Given the description of an element on the screen output the (x, y) to click on. 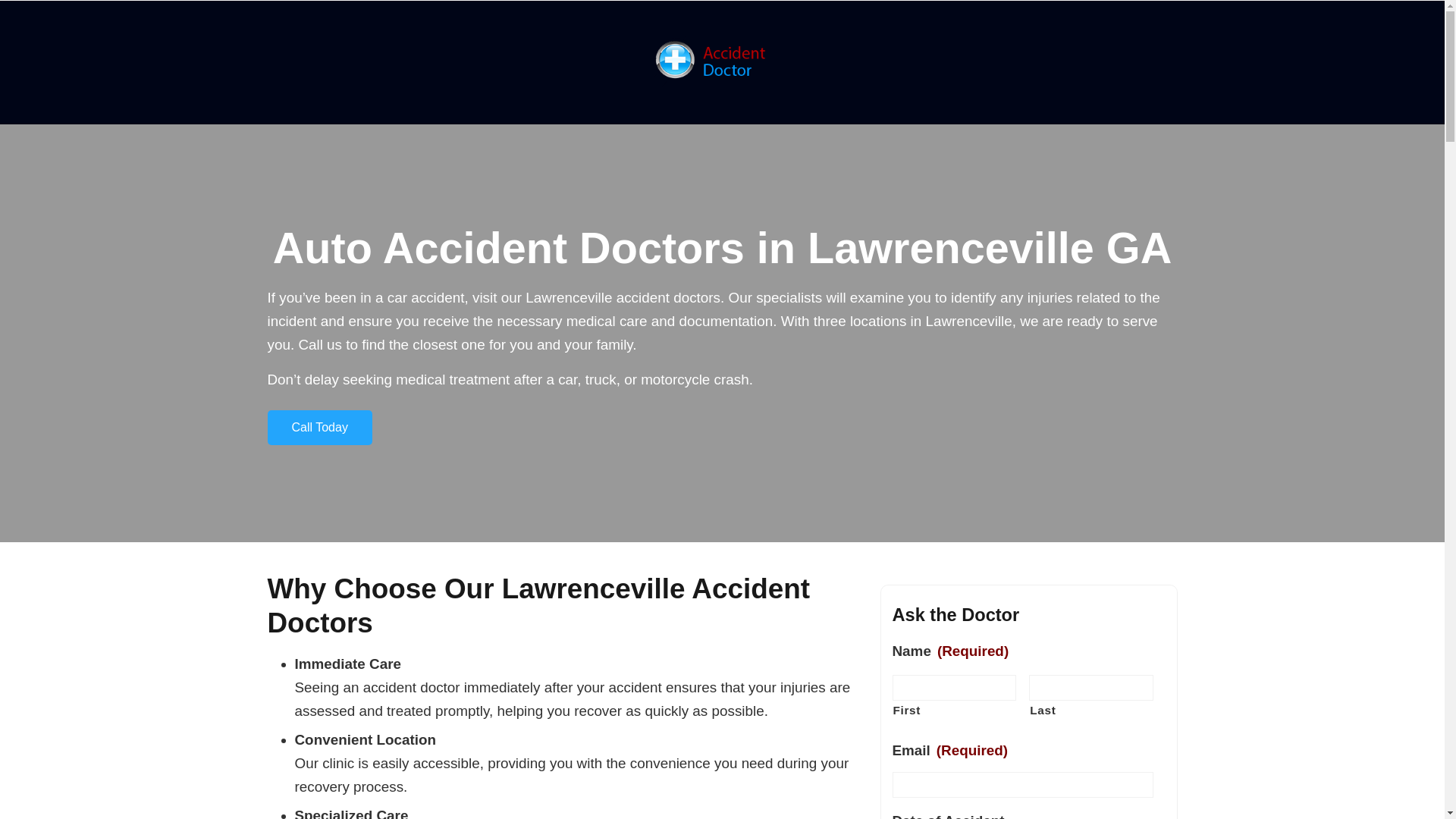
Call Today (318, 427)
